Given the description of an element on the screen output the (x, y) to click on. 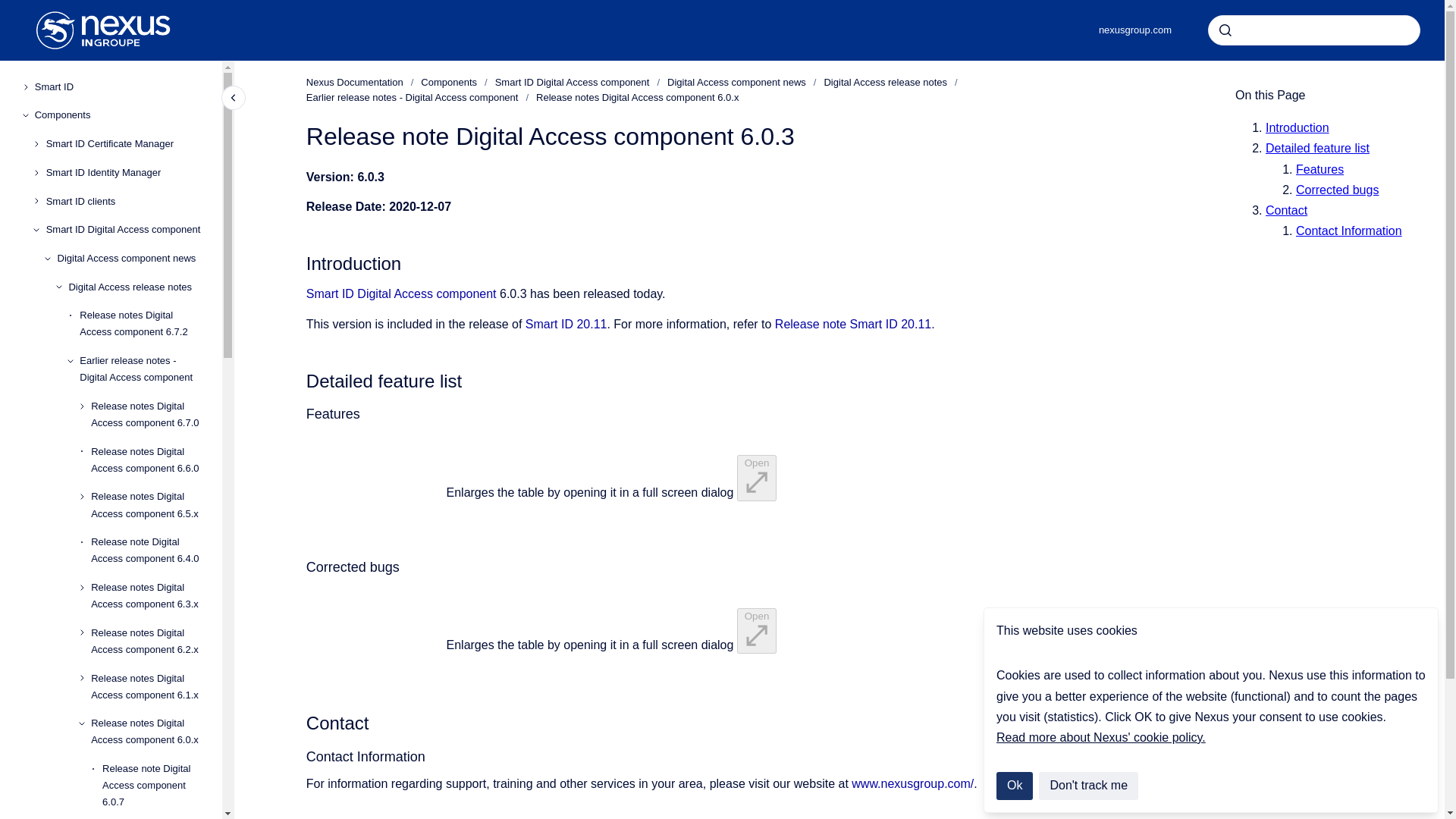
Components (121, 115)
Release note Digital Access component 6.4.0 (149, 550)
Smart ID Digital Access component (127, 229)
Smart ID clients (127, 201)
Release notes Digital Access component 6.2.x (149, 641)
Release notes Digital Access component 6.7.0 (149, 414)
Release notes Digital Access component 6.6.0 (149, 460)
Smart ID (121, 86)
nexusgroup.com (1134, 29)
Read more about Nexus' cookie policy. (1100, 737)
